Given the description of an element on the screen output the (x, y) to click on. 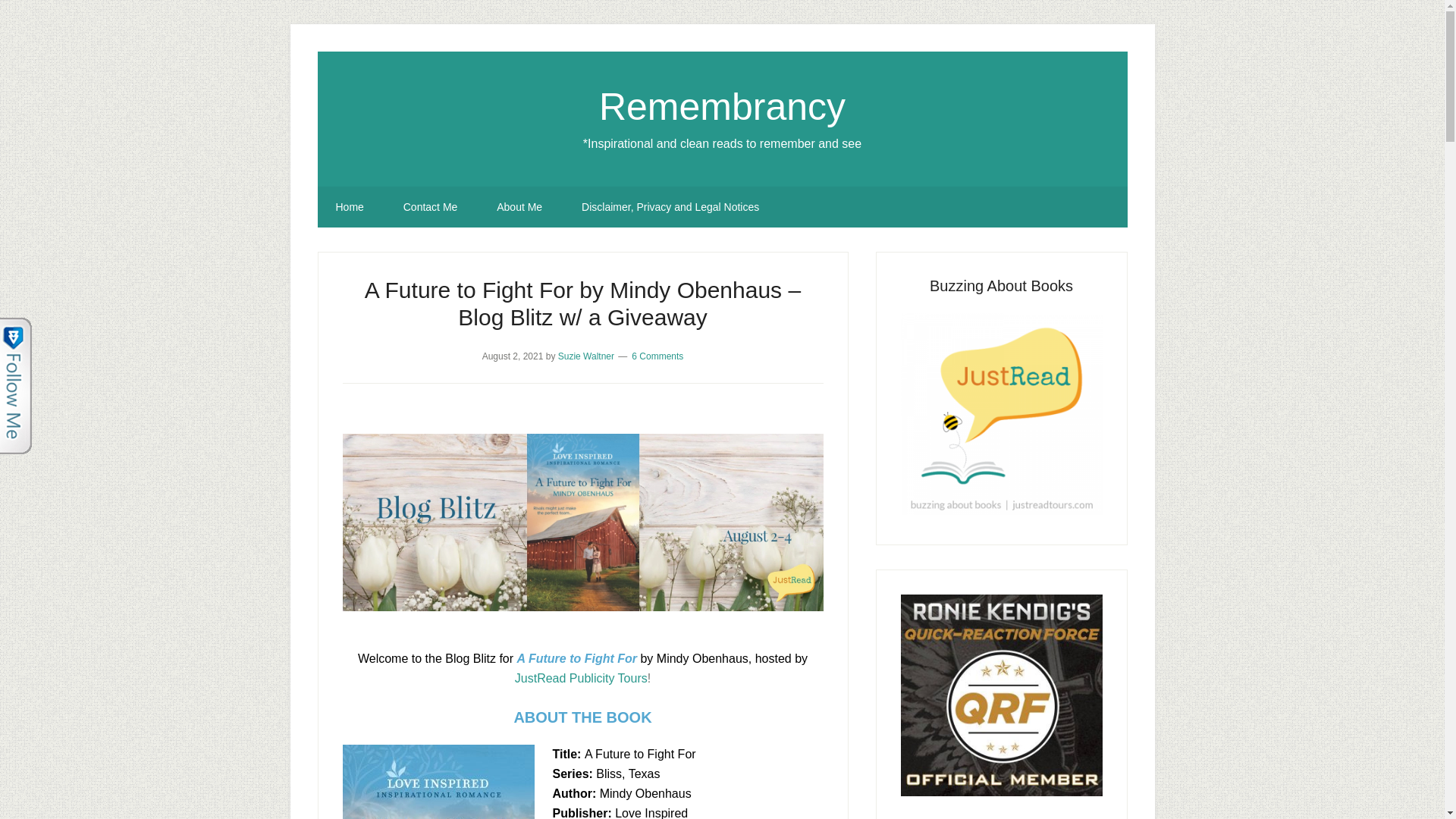
Remembrancy (721, 106)
Contact Me (430, 206)
Home (349, 206)
JustRead Publicity Tours (581, 677)
Suzie Waltner (585, 356)
About Me (519, 206)
6 Comments (656, 356)
Disclaimer, Privacy and Legal Notices (670, 206)
